Given the description of an element on the screen output the (x, y) to click on. 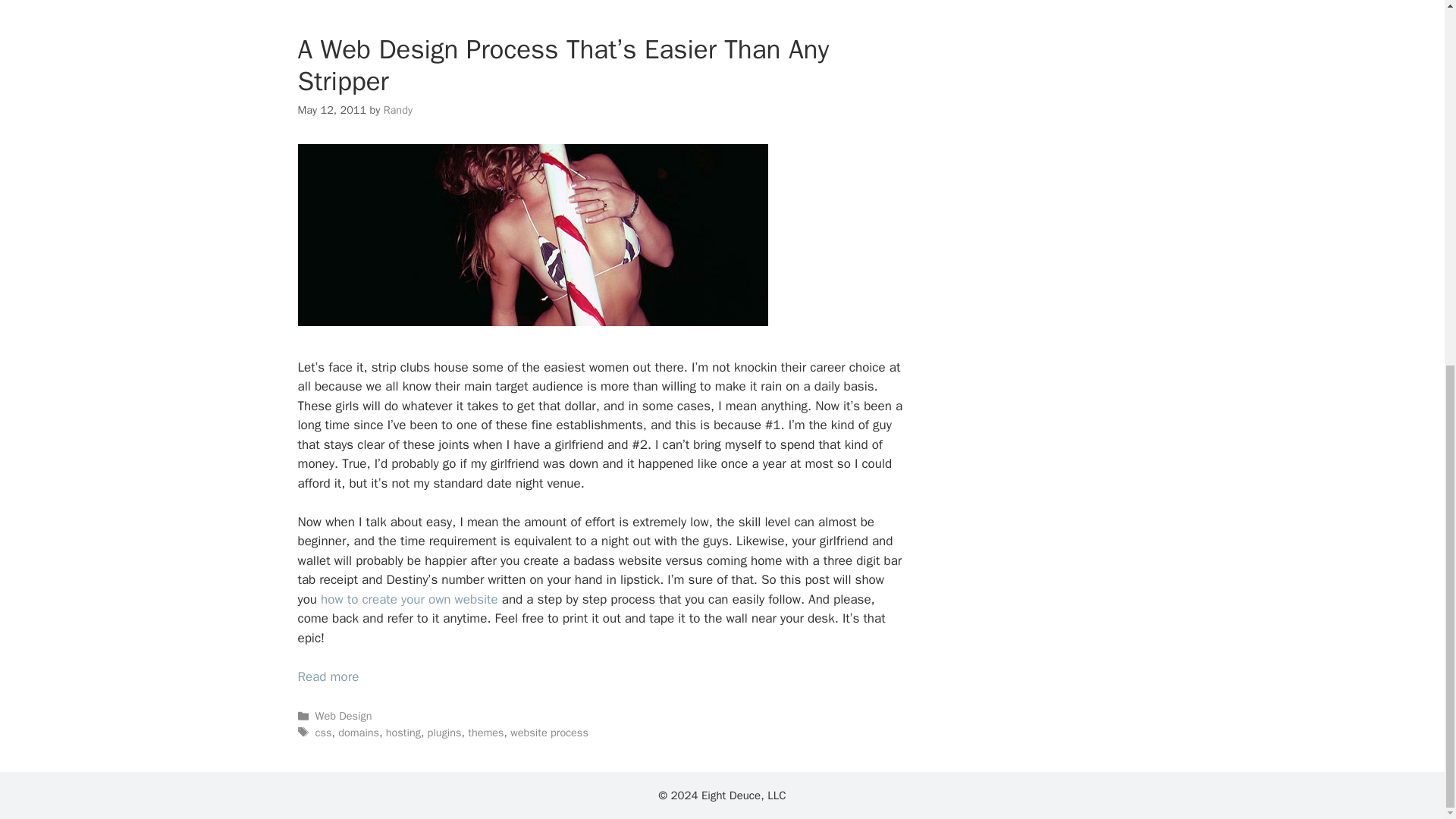
View all posts by Randy (398, 110)
domains (357, 732)
Web Design (343, 715)
Randy (398, 110)
website process (549, 732)
plugins (444, 732)
how to create your own website (408, 599)
Read more (327, 676)
css (323, 732)
themes (485, 732)
